Given the description of an element on the screen output the (x, y) to click on. 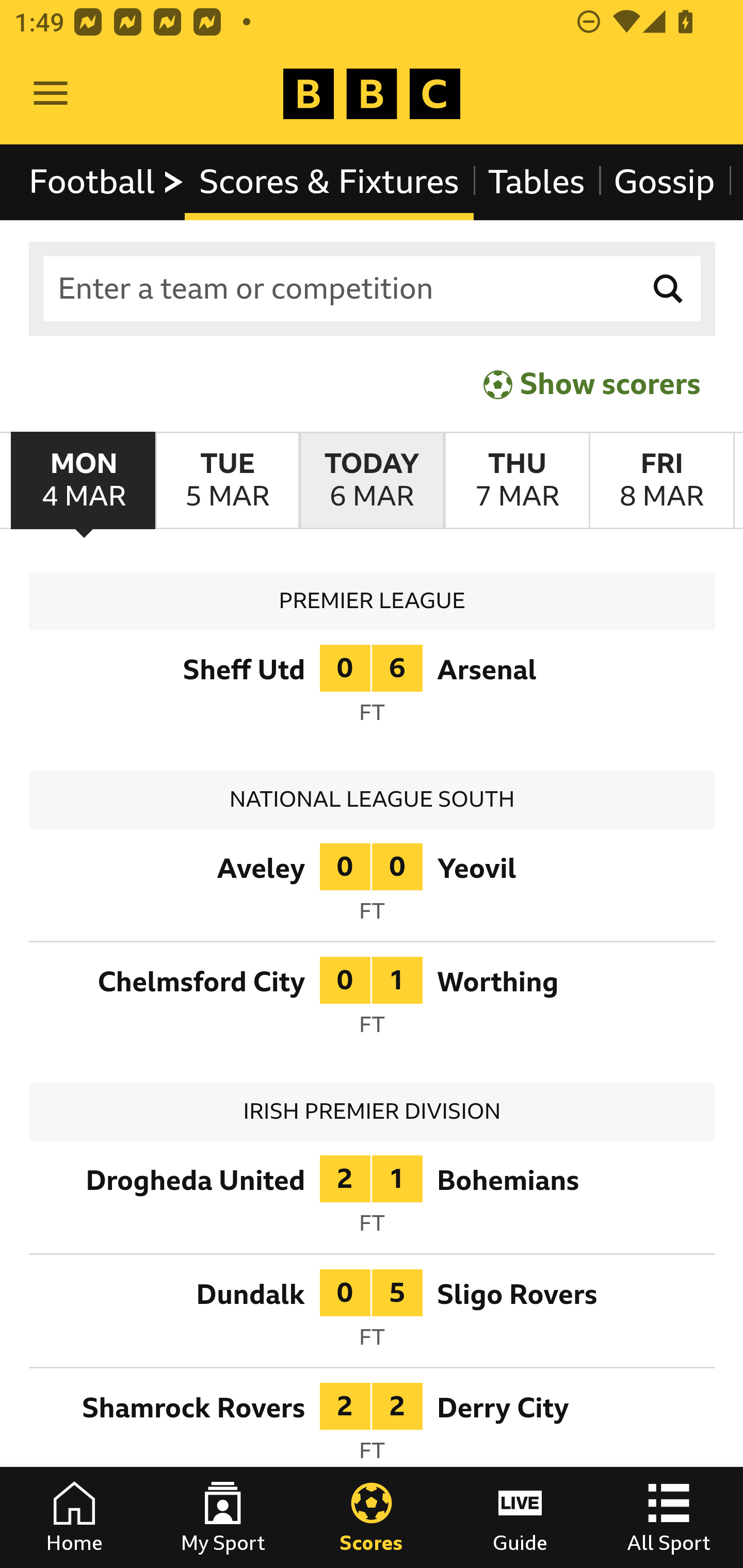
Open Menu (50, 93)
Football  (106, 181)
Scores & Fixtures (329, 181)
Tables (536, 181)
Gossip (664, 181)
Search (669, 289)
Show scorers (591, 383)
TuesdayMarch 5th Tuesday March 5th (227, 480)
TodayMarch 6th Today March 6th (371, 480)
ThursdayMarch 7th Thursday March 7th (516, 480)
FridayMarch 8th Friday March 8th (661, 480)
68399653 Sheffield United 0 Arsenal 6 Full Time (372, 689)
Home (74, 1517)
My Sport (222, 1517)
Guide (519, 1517)
All Sport (668, 1517)
